Given the description of an element on the screen output the (x, y) to click on. 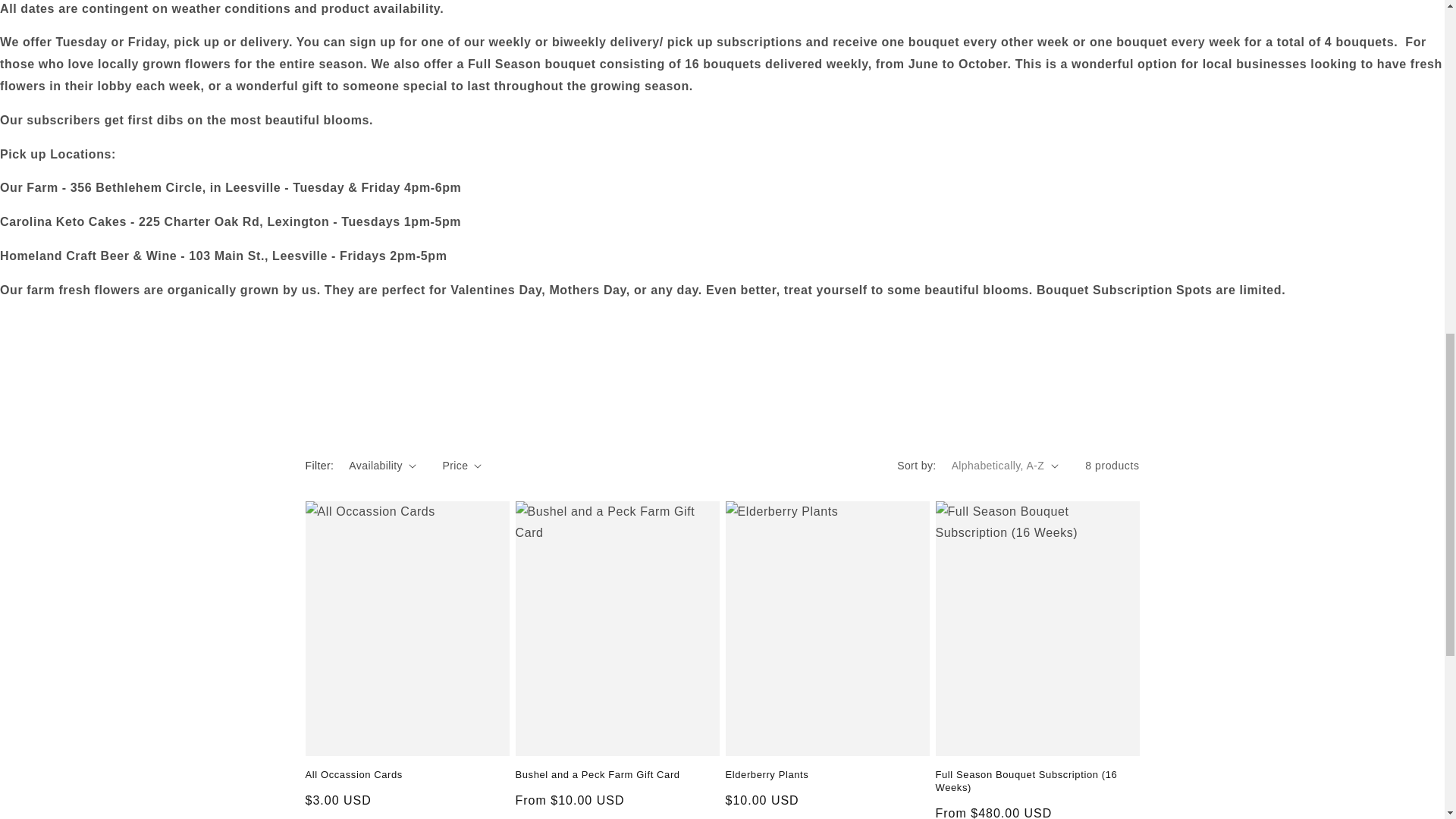
All Occassion Cards (406, 775)
